Given the description of an element on the screen output the (x, y) to click on. 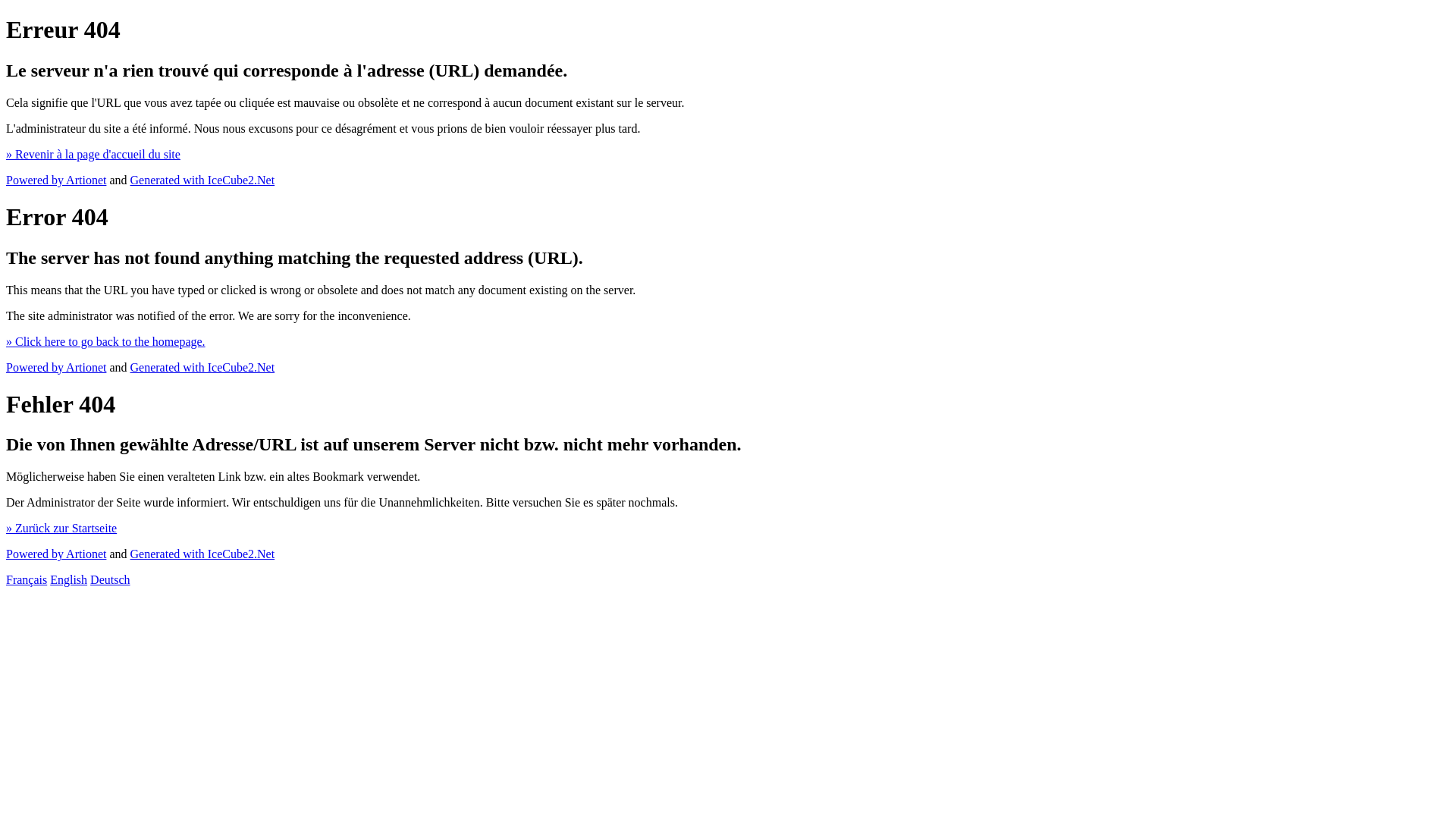
Generated with IceCube2.Net Element type: text (202, 366)
English Element type: text (68, 579)
Generated with IceCube2.Net Element type: text (202, 553)
Generated with IceCube2.Net Element type: text (202, 179)
Powered by Artionet Element type: text (56, 553)
Powered by Artionet Element type: text (56, 179)
Powered by Artionet Element type: text (56, 366)
Deutsch Element type: text (109, 579)
